Given the description of an element on the screen output the (x, y) to click on. 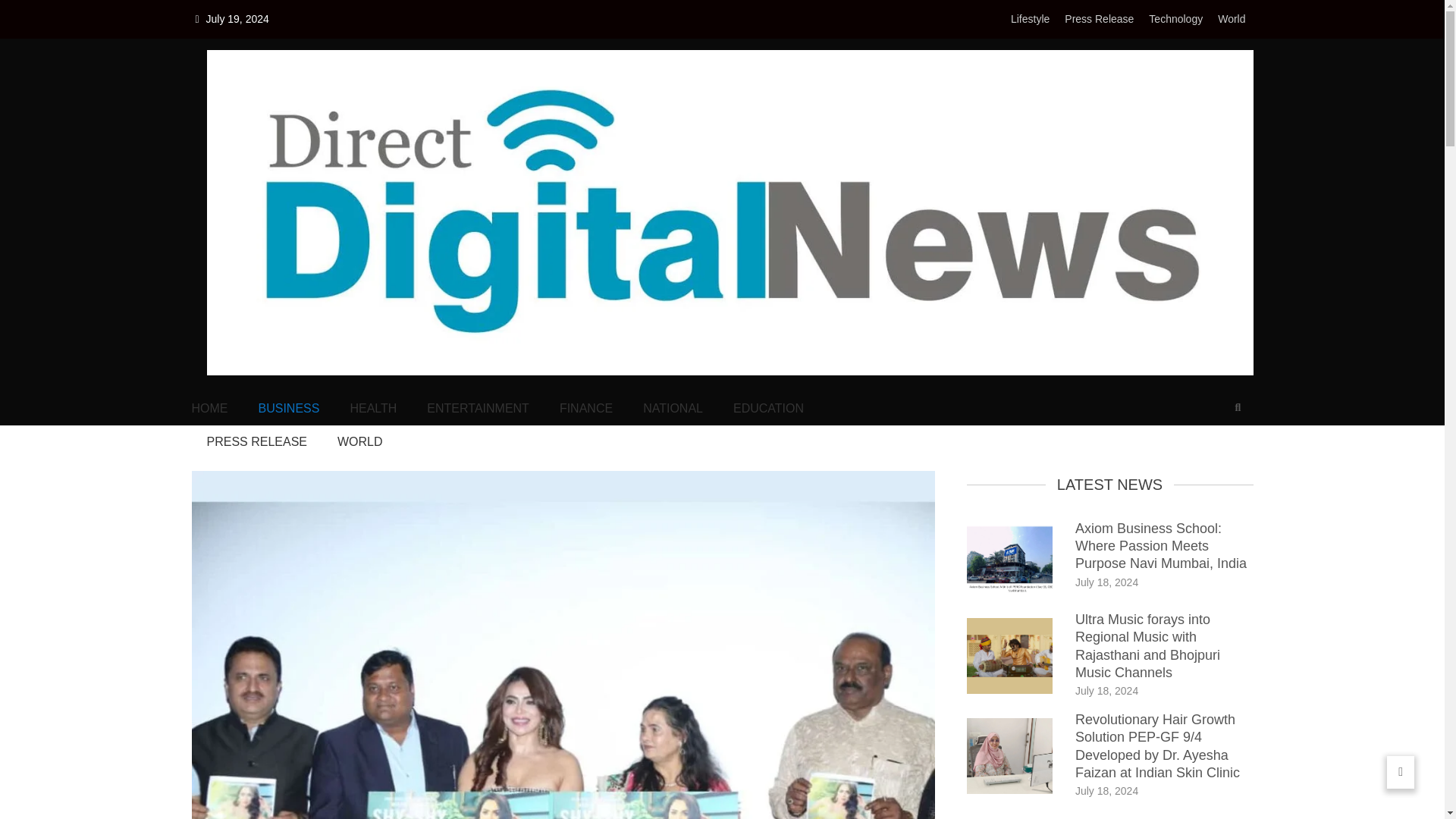
PRESS RELEASE (256, 442)
ENTERTAINMENT (477, 408)
World (1230, 19)
Lifestyle (1029, 19)
BUSINESS (287, 408)
HOME (208, 408)
EDUCATION (768, 408)
Technology (1175, 19)
Direct Digital News (306, 396)
NATIONAL (673, 408)
FINANCE (585, 408)
July 18, 2024 (1106, 690)
WORLD (359, 442)
